Given the description of an element on the screen output the (x, y) to click on. 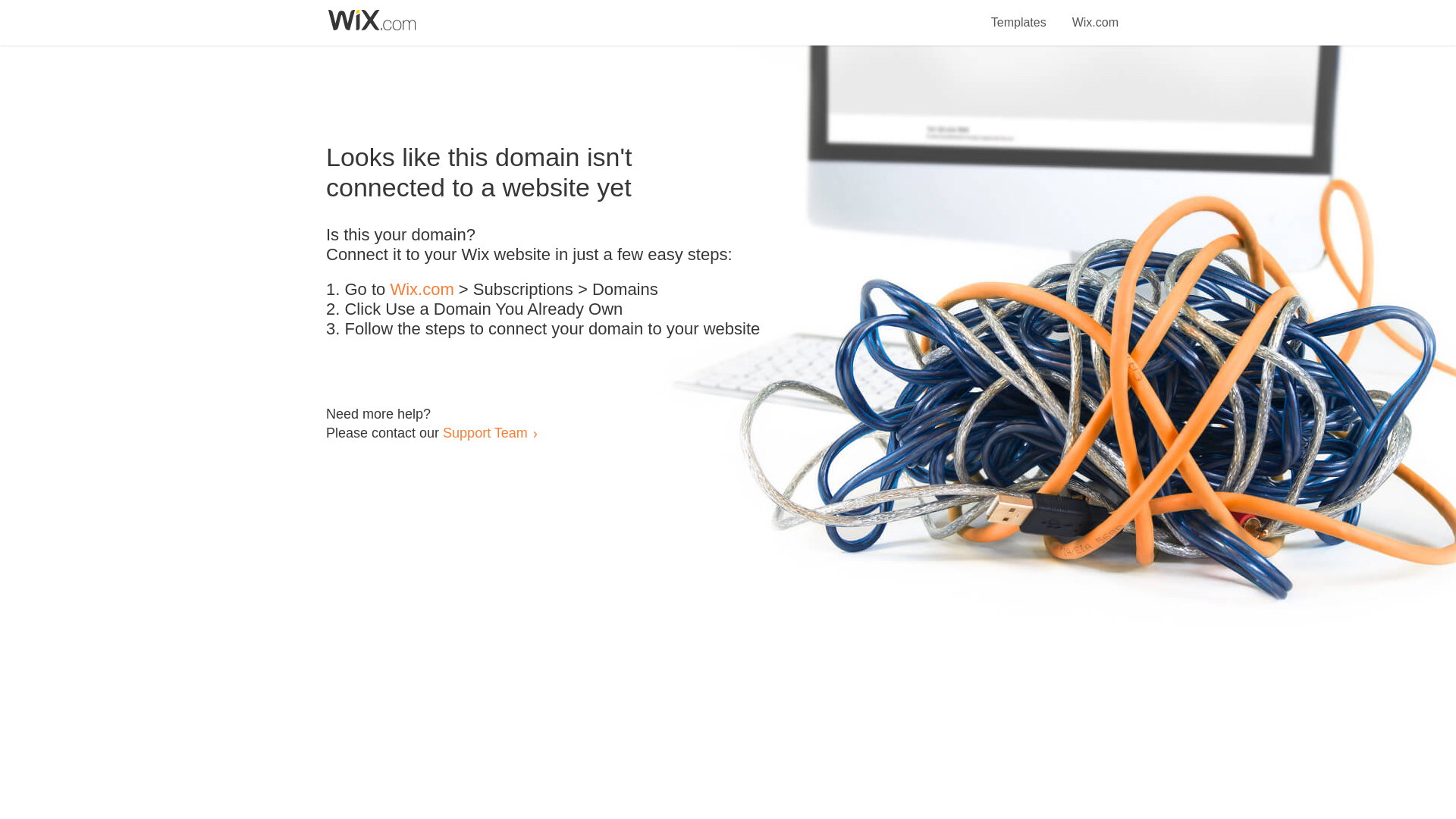
Templates (1018, 14)
Wix.com (421, 289)
Support Team (484, 432)
Wix.com (1095, 14)
